Given the description of an element on the screen output the (x, y) to click on. 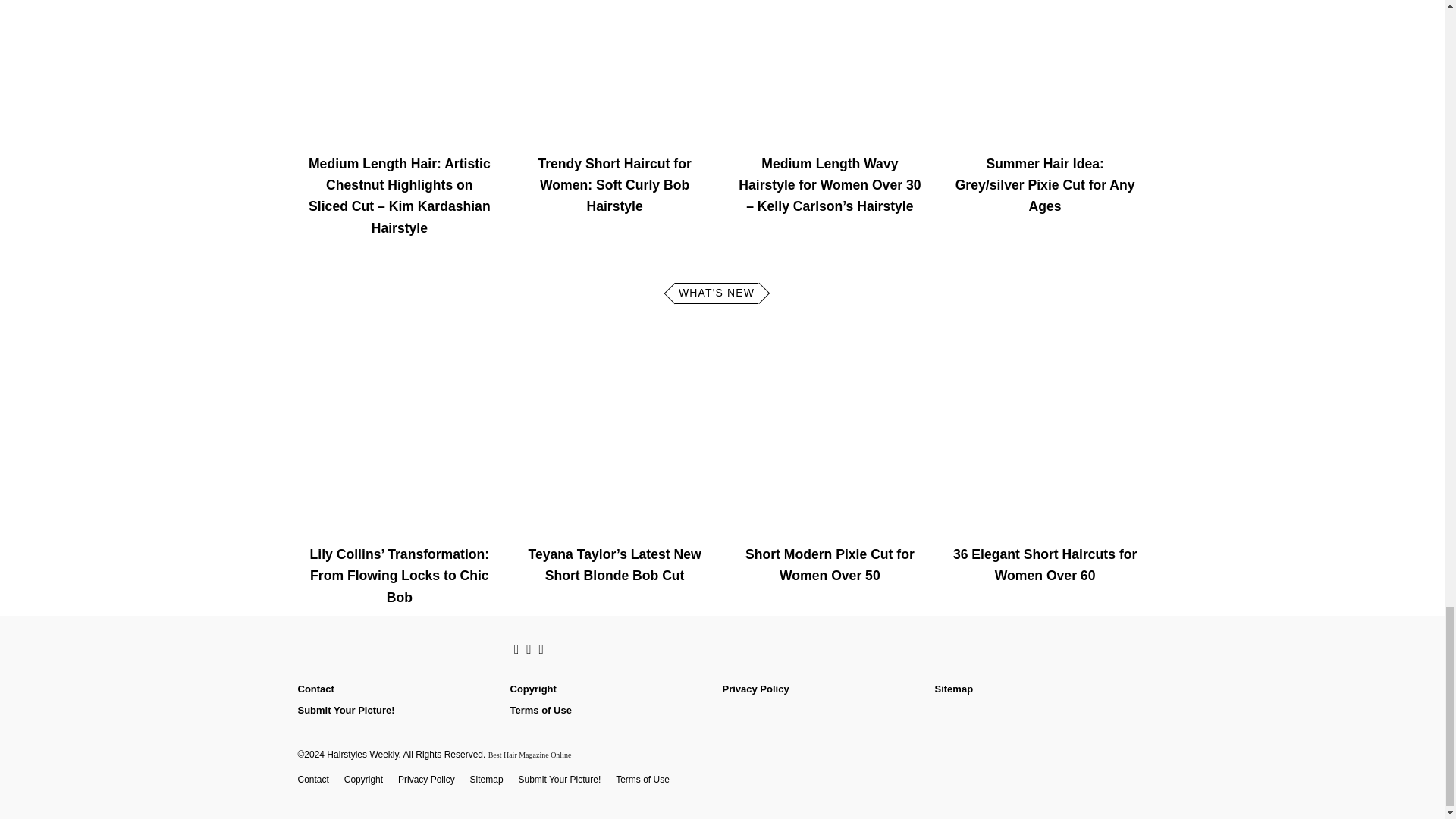
HAIRSTYLES WEEKLY (396, 649)
